Given the description of an element on the screen output the (x, y) to click on. 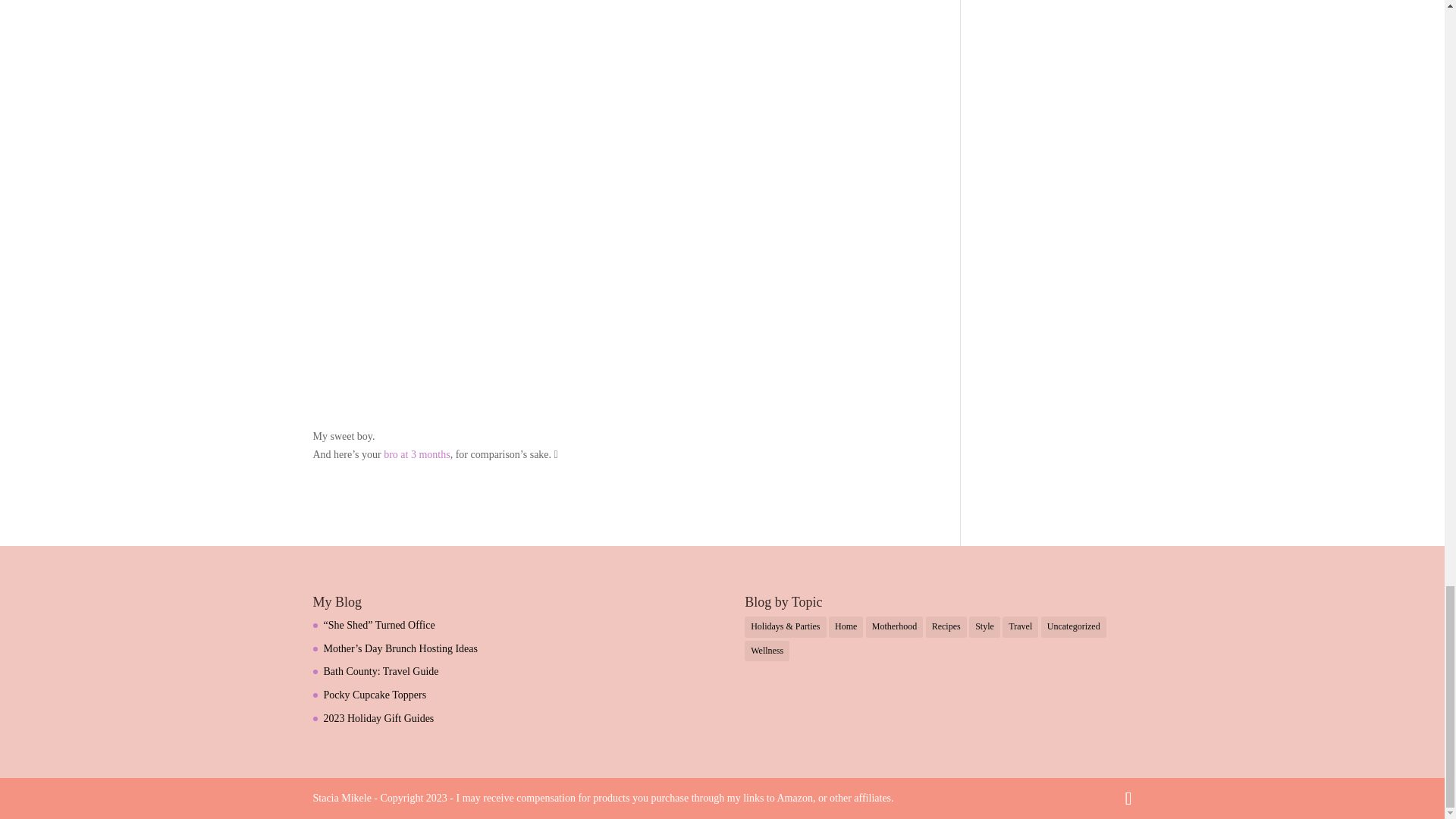
Recipes (946, 627)
Travel (1020, 627)
Home (845, 627)
bro at 3 months (416, 454)
Pocky Cupcake Toppers (374, 695)
Bath County: Travel Guide (380, 671)
Style (984, 627)
Uncategorized (1073, 627)
Motherhood (894, 627)
2023 Holiday Gift Guides (378, 717)
